Given the description of an element on the screen output the (x, y) to click on. 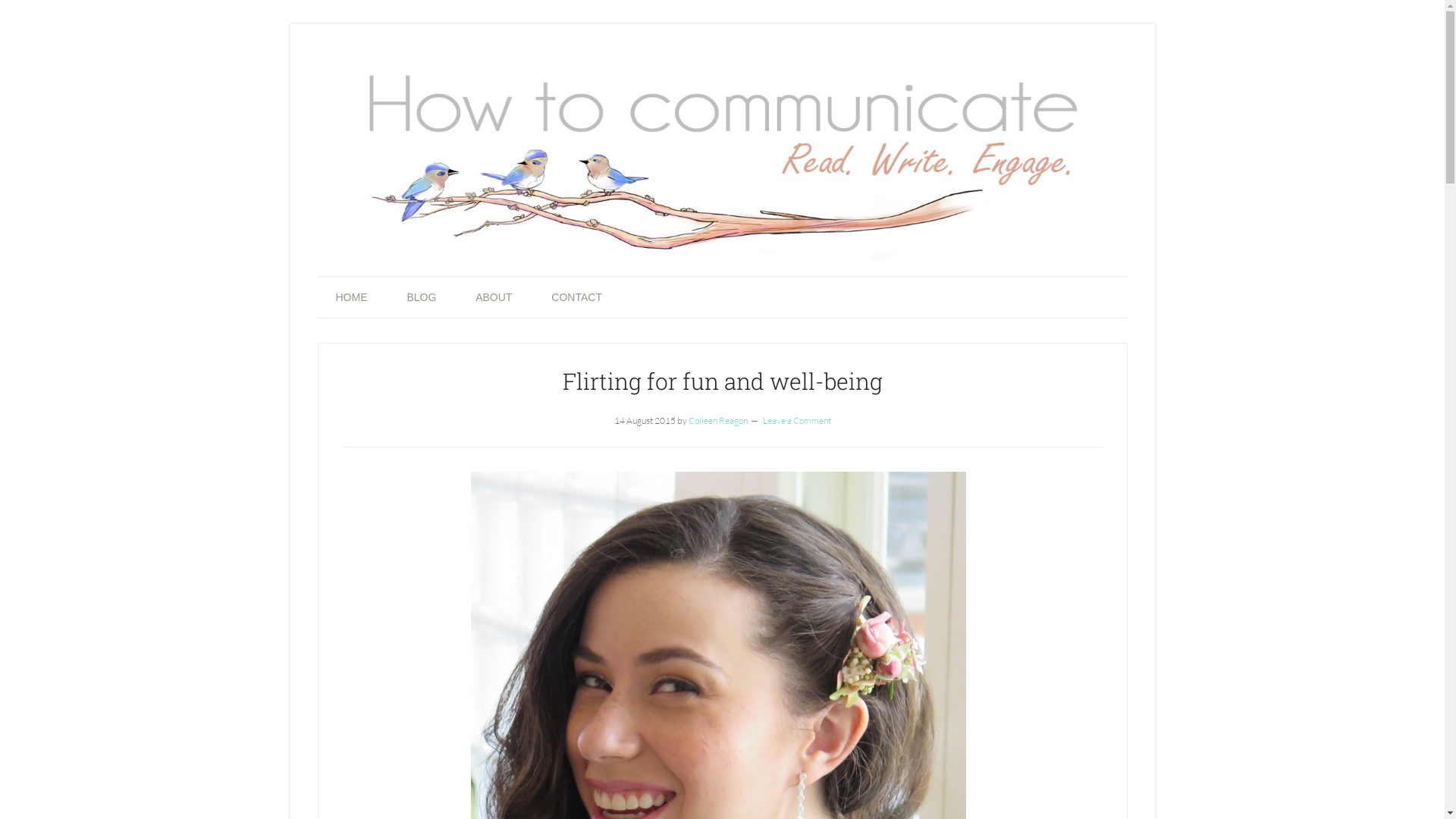
ABOUT Element type: text (493, 296)
CONTACT Element type: text (576, 296)
Colleen Reagon Element type: text (717, 420)
Leave a Comment Element type: text (796, 420)
BLOG Element type: text (421, 296)
HOME Element type: text (350, 296)
